Given the description of an element on the screen output the (x, y) to click on. 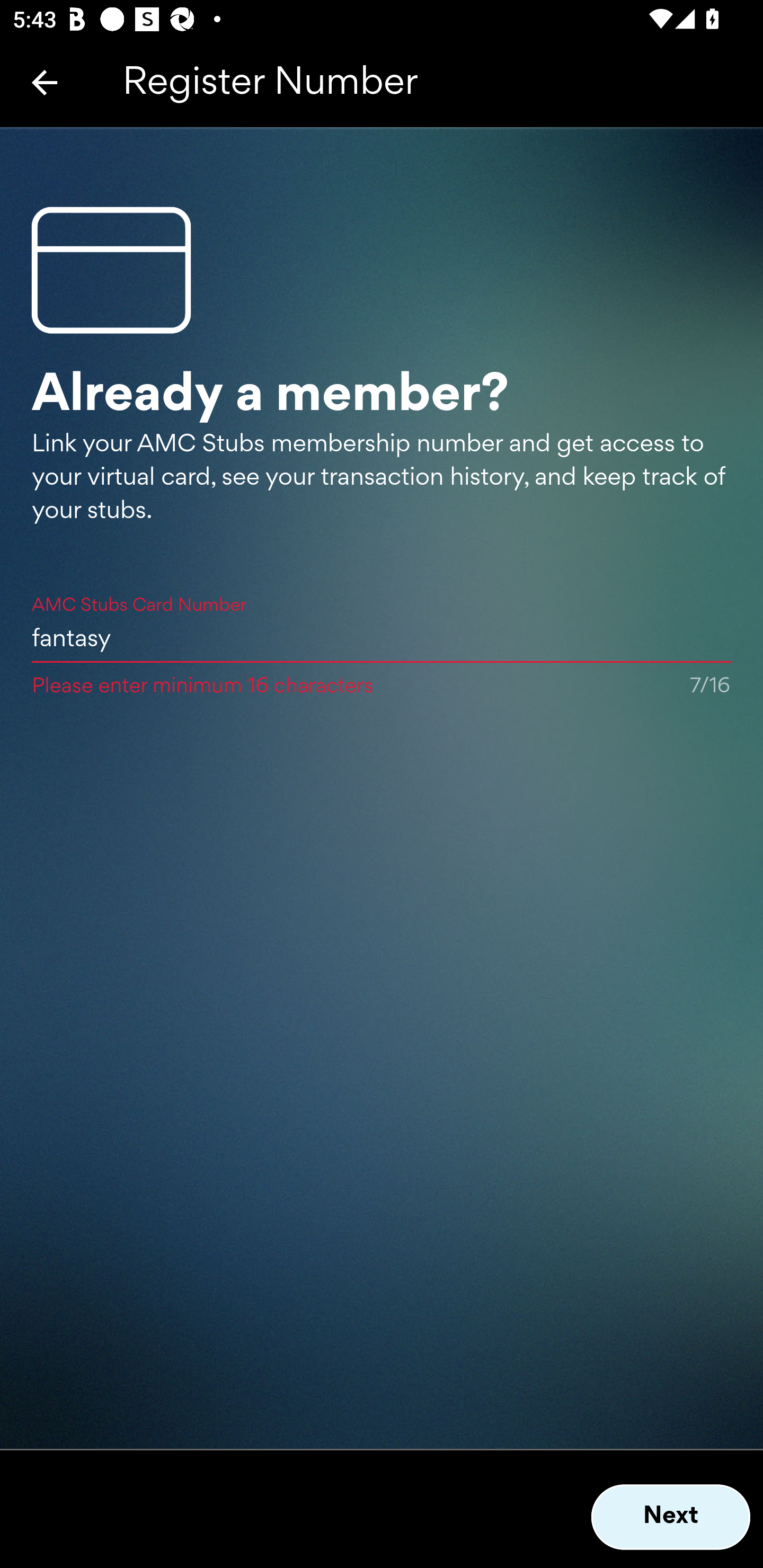
Back (44, 82)
Next (670, 1516)
